Given the description of an element on the screen output the (x, y) to click on. 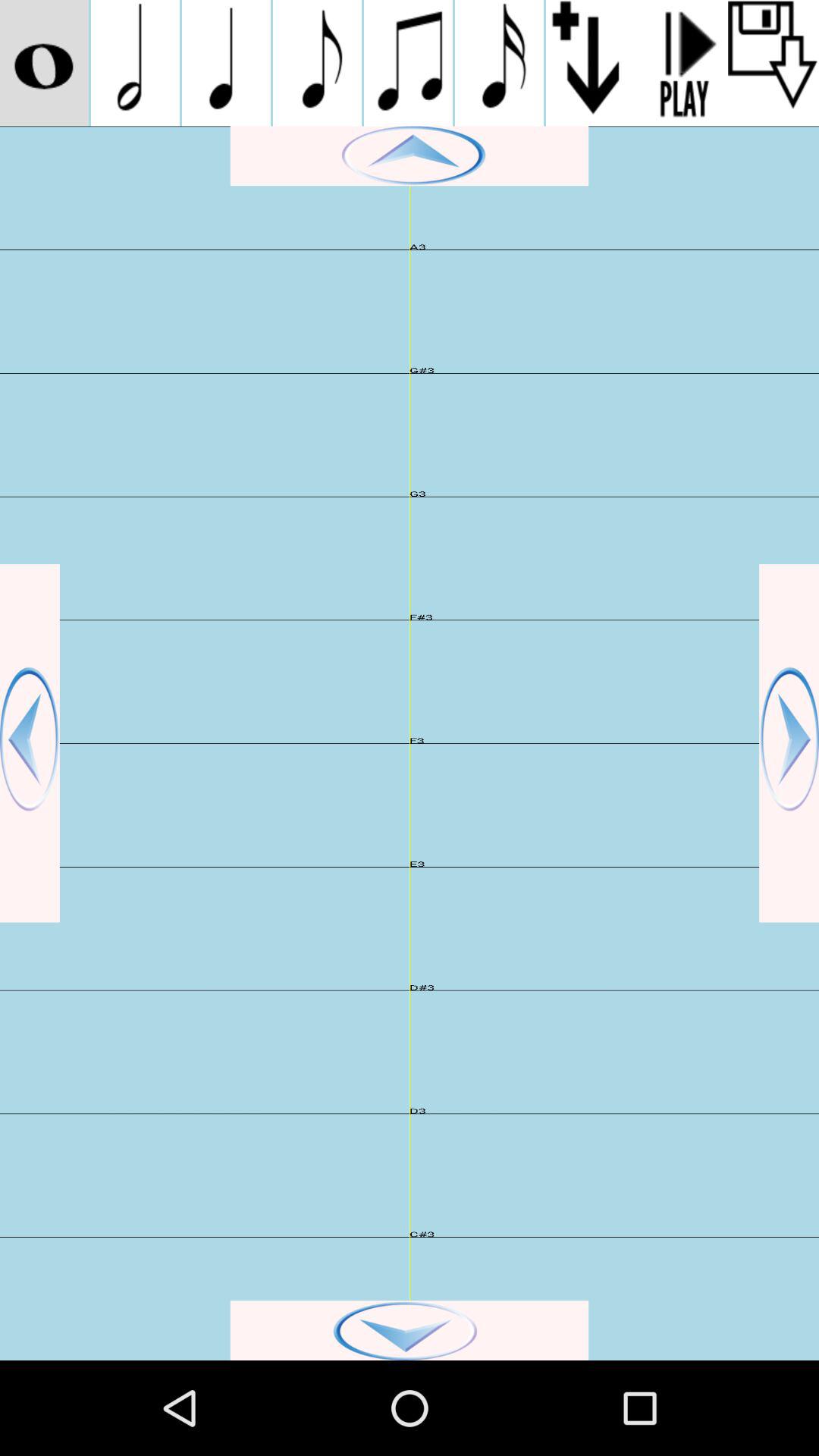
eject out button (773, 63)
